Given the description of an element on the screen output the (x, y) to click on. 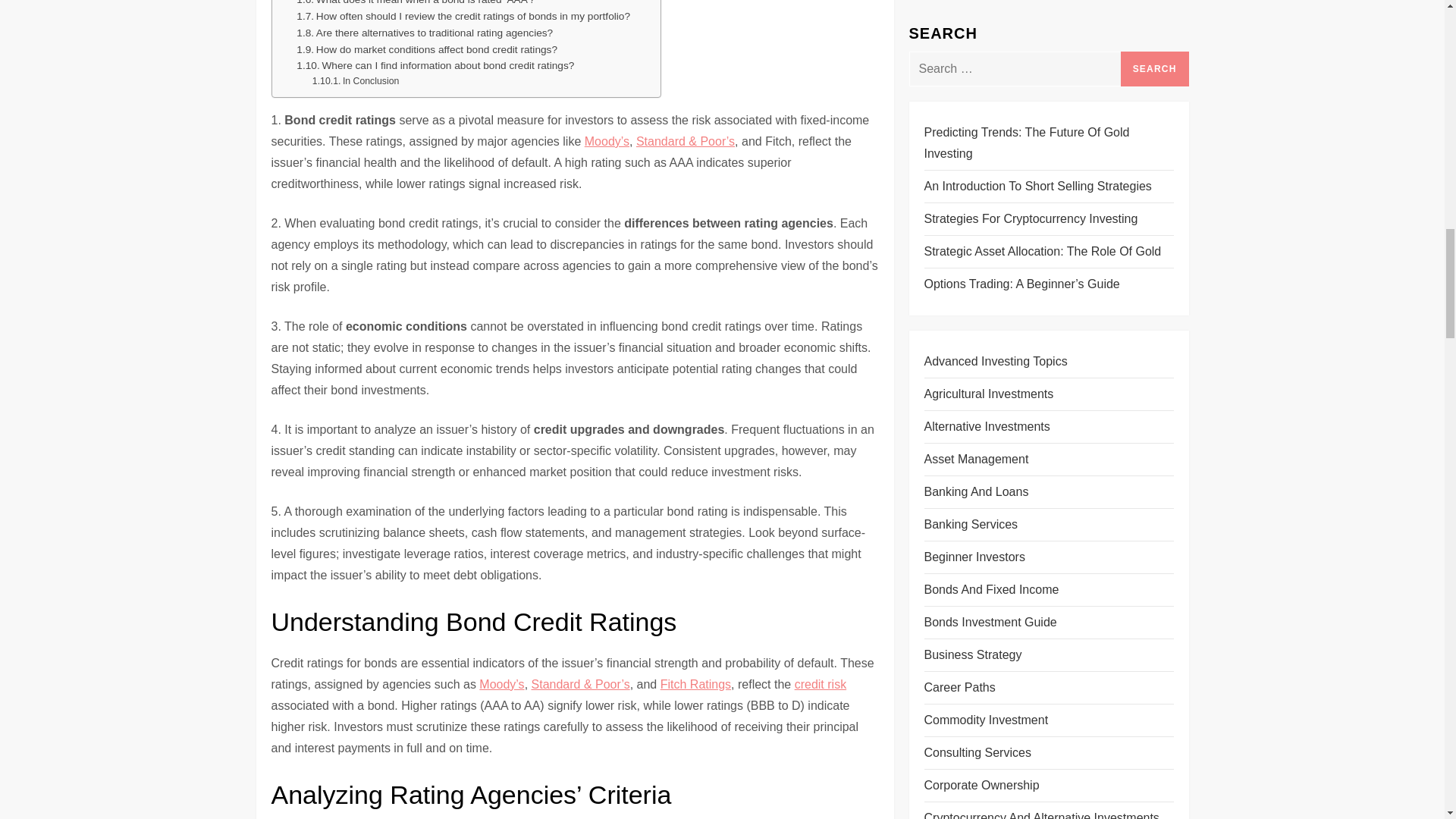
Are there alternatives to traditional rating agencies? (425, 33)
In Conclusion (355, 81)
How do market conditions affect bond credit ratings? (427, 49)
Where can I find information about bond credit ratings? (435, 65)
